Given the description of an element on the screen output the (x, y) to click on. 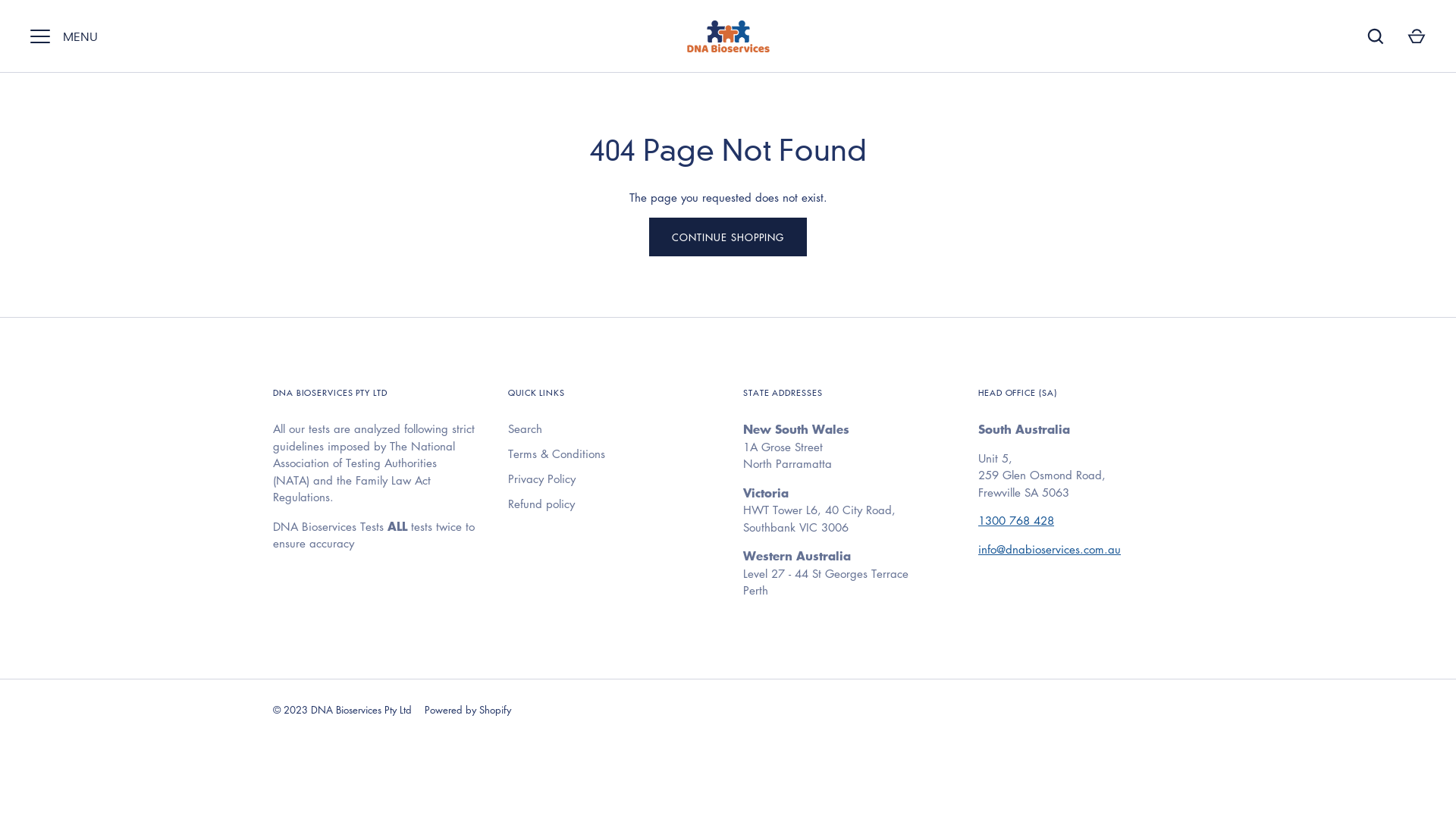
Search Element type: text (525, 428)
Privacy Policy Element type: text (541, 478)
MENU Element type: text (39, 36)
Refund policy Element type: text (541, 503)
CONTINUE SHOPPING Element type: text (728, 237)
Powered by Shopify Element type: text (467, 709)
Terms & Conditions Element type: text (556, 453)
1300 768 428 Element type: text (1016, 519)
info@dnabioservices.com.au Element type: text (1049, 548)
